Given the description of an element on the screen output the (x, y) to click on. 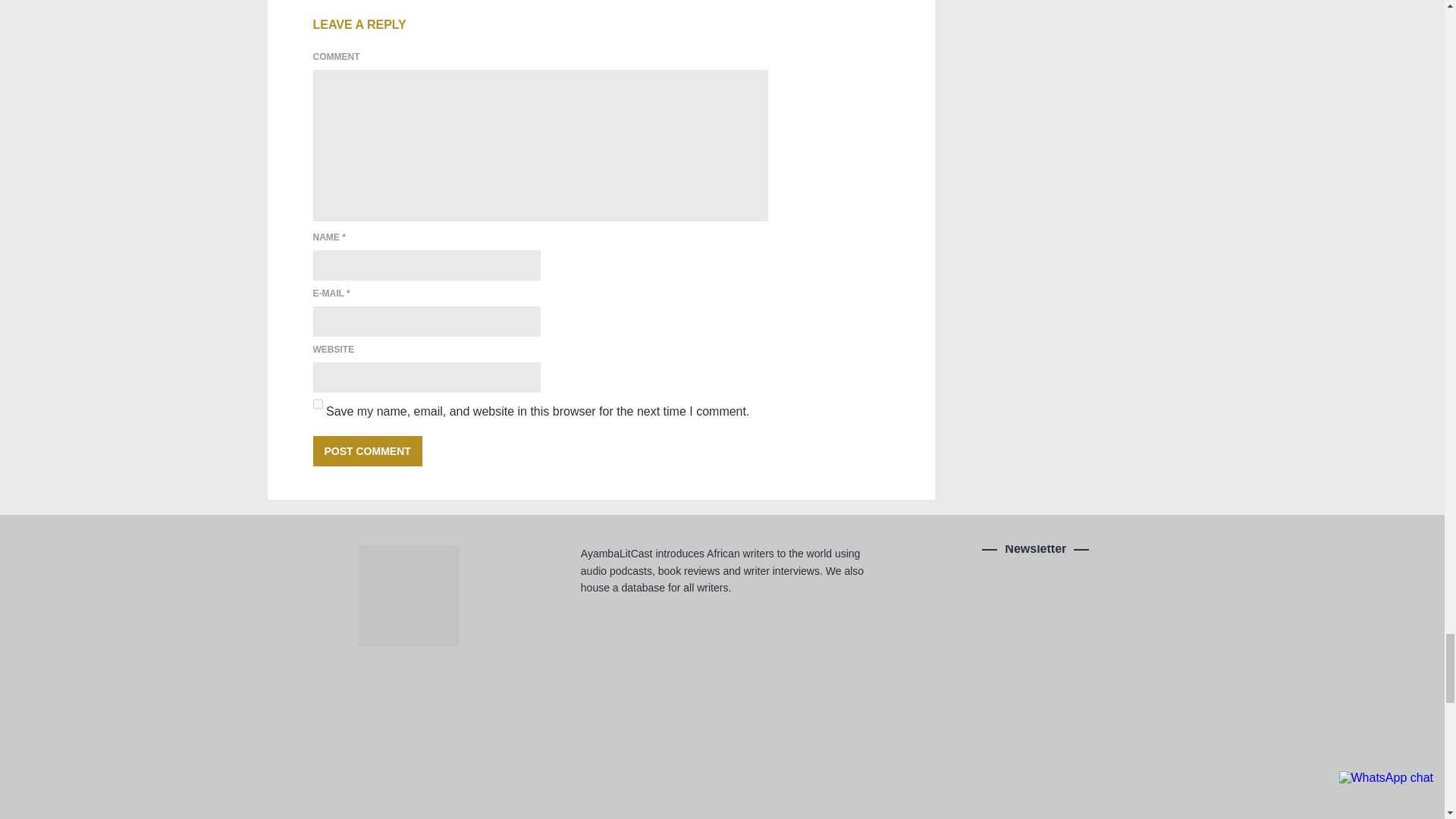
Post Comment (367, 450)
